Given the description of an element on the screen output the (x, y) to click on. 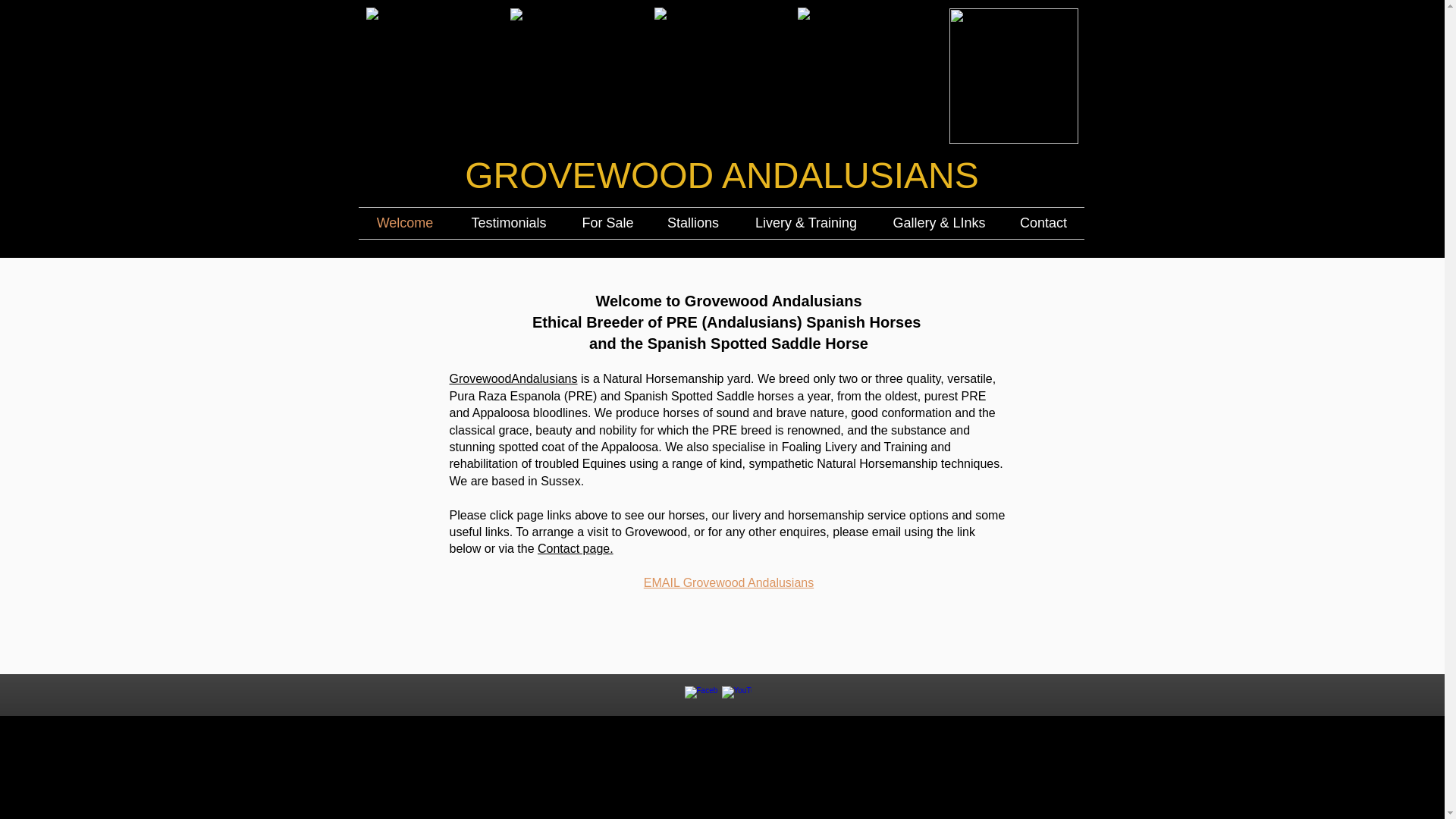
GrovewoodAndalusians (512, 378)
EMAIL Grovewood Andalusians (728, 582)
For Sale (607, 223)
Contact page. (574, 548)
Welcome (404, 223)
Testimonials (508, 223)
Contact (1043, 223)
Stallions (692, 223)
